Given the description of an element on the screen output the (x, y) to click on. 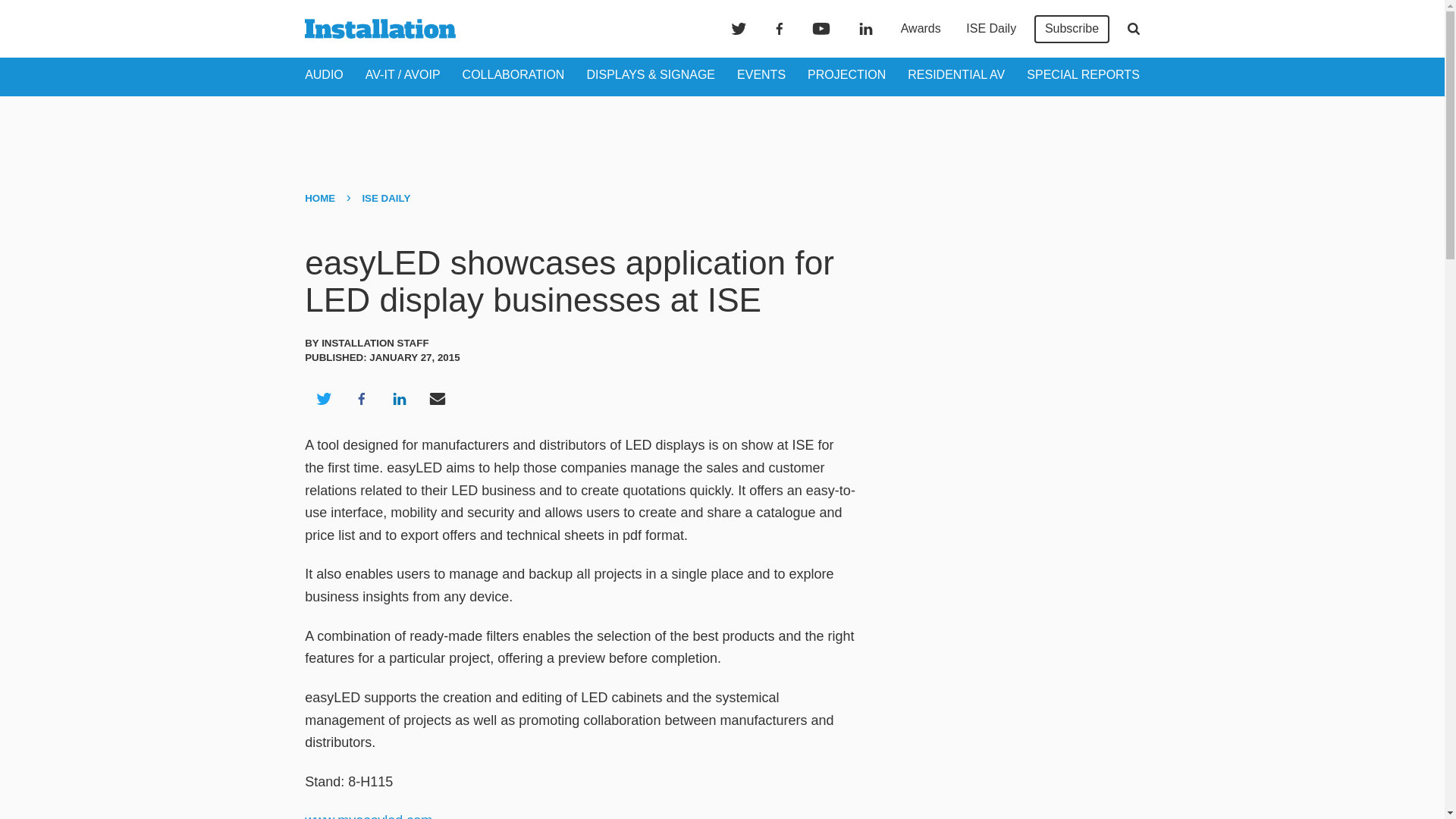
Subscribe (1071, 29)
ISE Daily (990, 29)
Share on LinkedIn (399, 398)
COLLABORATION (513, 74)
Share on Twitter (323, 398)
Installation Staff's Author Profile (374, 342)
Awards (921, 29)
Share on Facebook (361, 398)
Share via Email (438, 398)
AUDIO (323, 74)
